Given the description of an element on the screen output the (x, y) to click on. 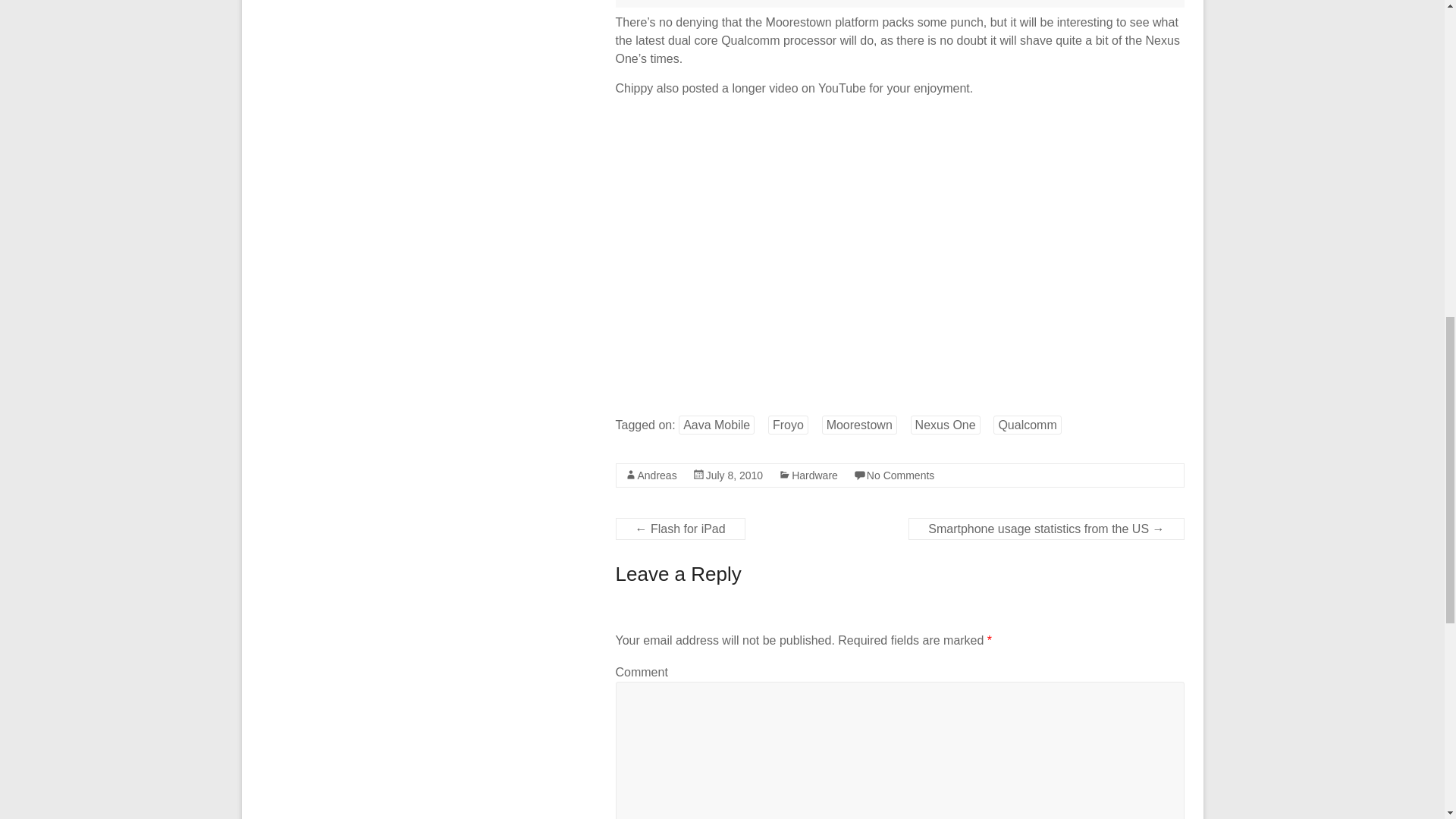
Moorestown (859, 424)
Advertisement (900, 3)
Andreas (657, 475)
July 8, 2010 (734, 475)
Qualcomm (1026, 424)
No Comments (900, 475)
Nexus One (945, 424)
Aava Mobile (716, 424)
Hardware (815, 475)
22:59 (734, 475)
